Given the description of an element on the screen output the (x, y) to click on. 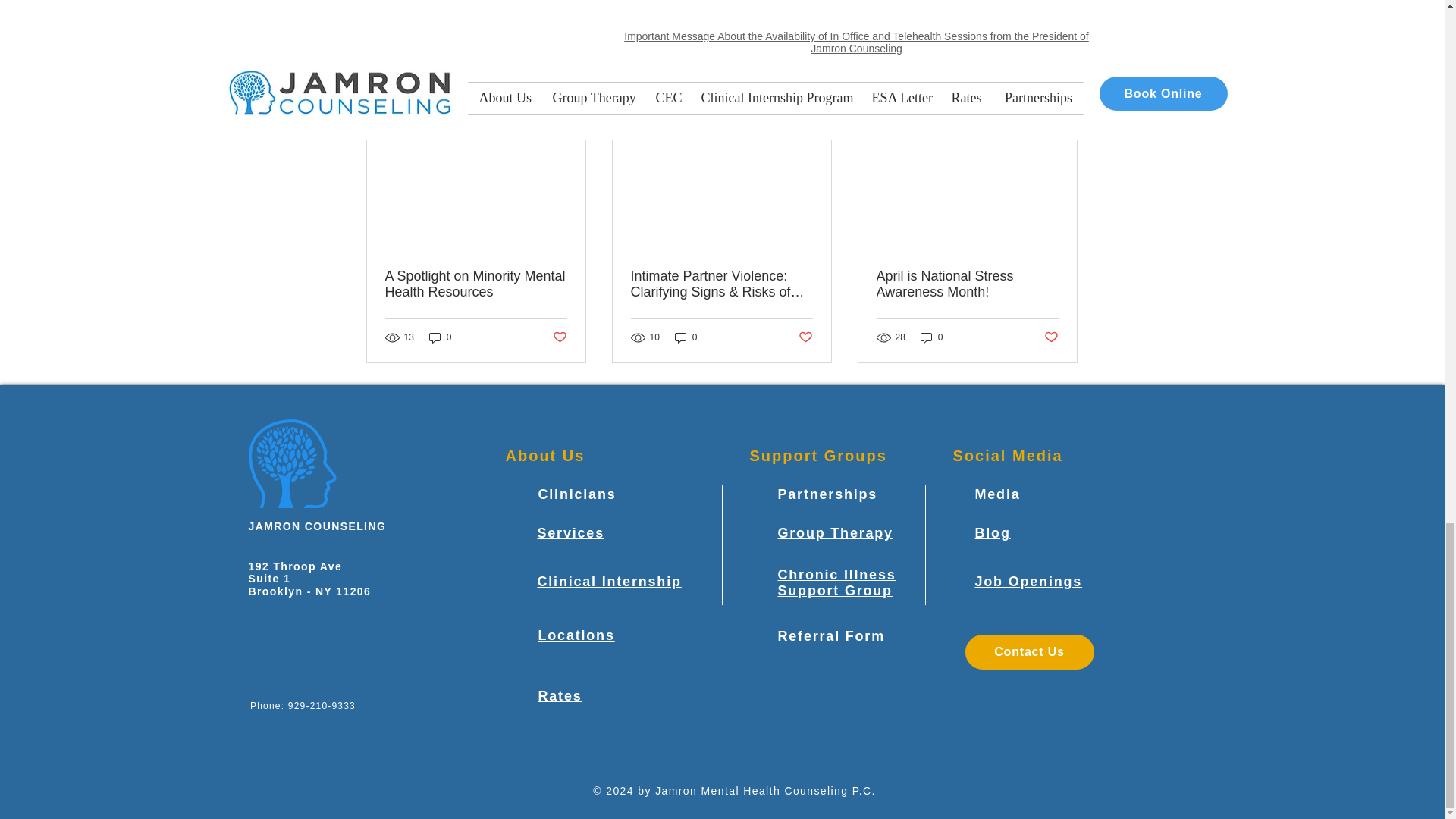
See All (1061, 100)
Post not marked as liked (995, 17)
0 (440, 337)
Jamron Counseling.png (292, 463)
Post not marked as liked (558, 336)
A Spotlight on Minority Mental Health Resources (476, 284)
Embedded Content (297, 744)
